Given the description of an element on the screen output the (x, y) to click on. 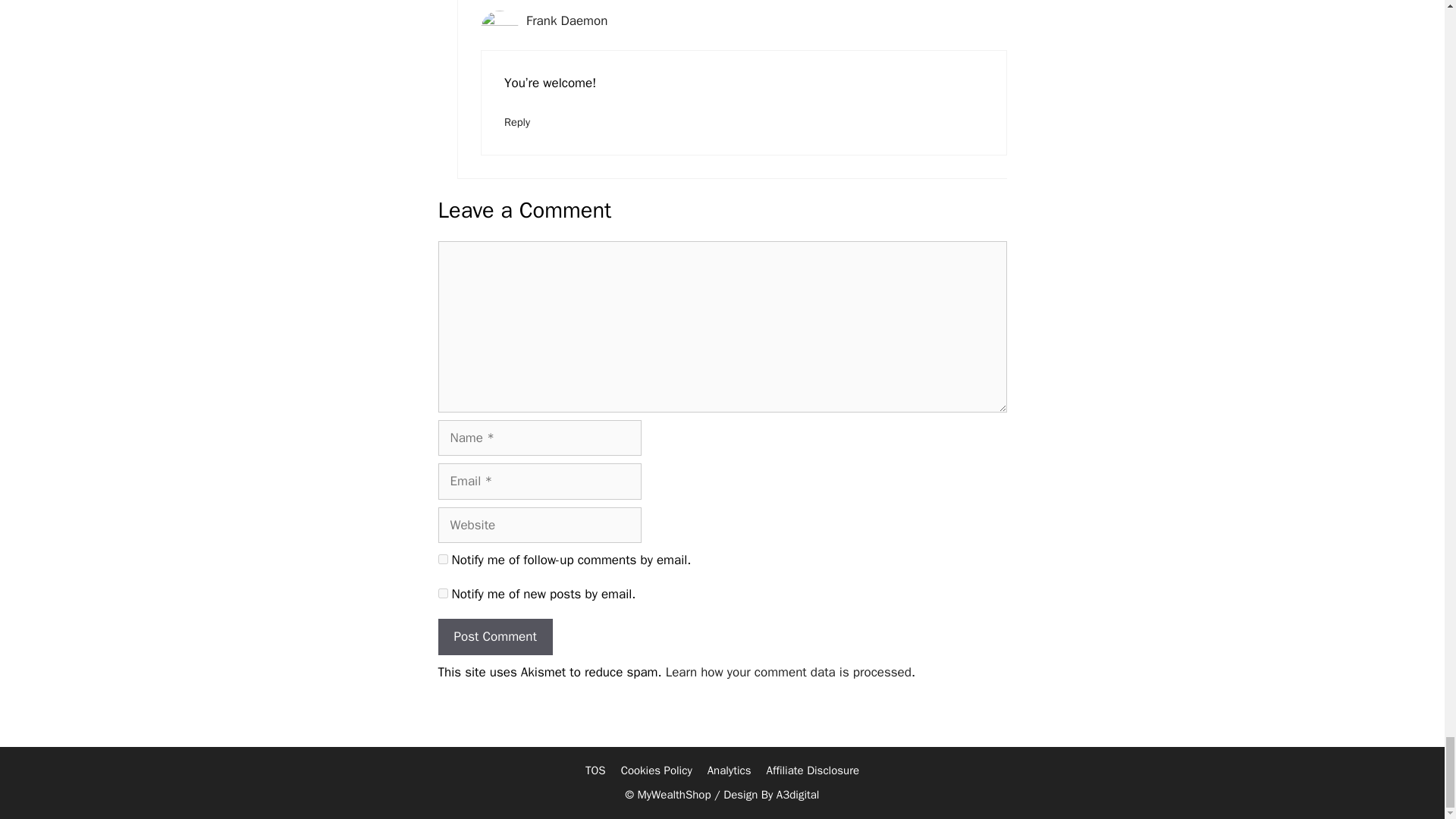
subscribe (443, 593)
subscribe (443, 559)
Post Comment (495, 637)
